Given the description of an element on the screen output the (x, y) to click on. 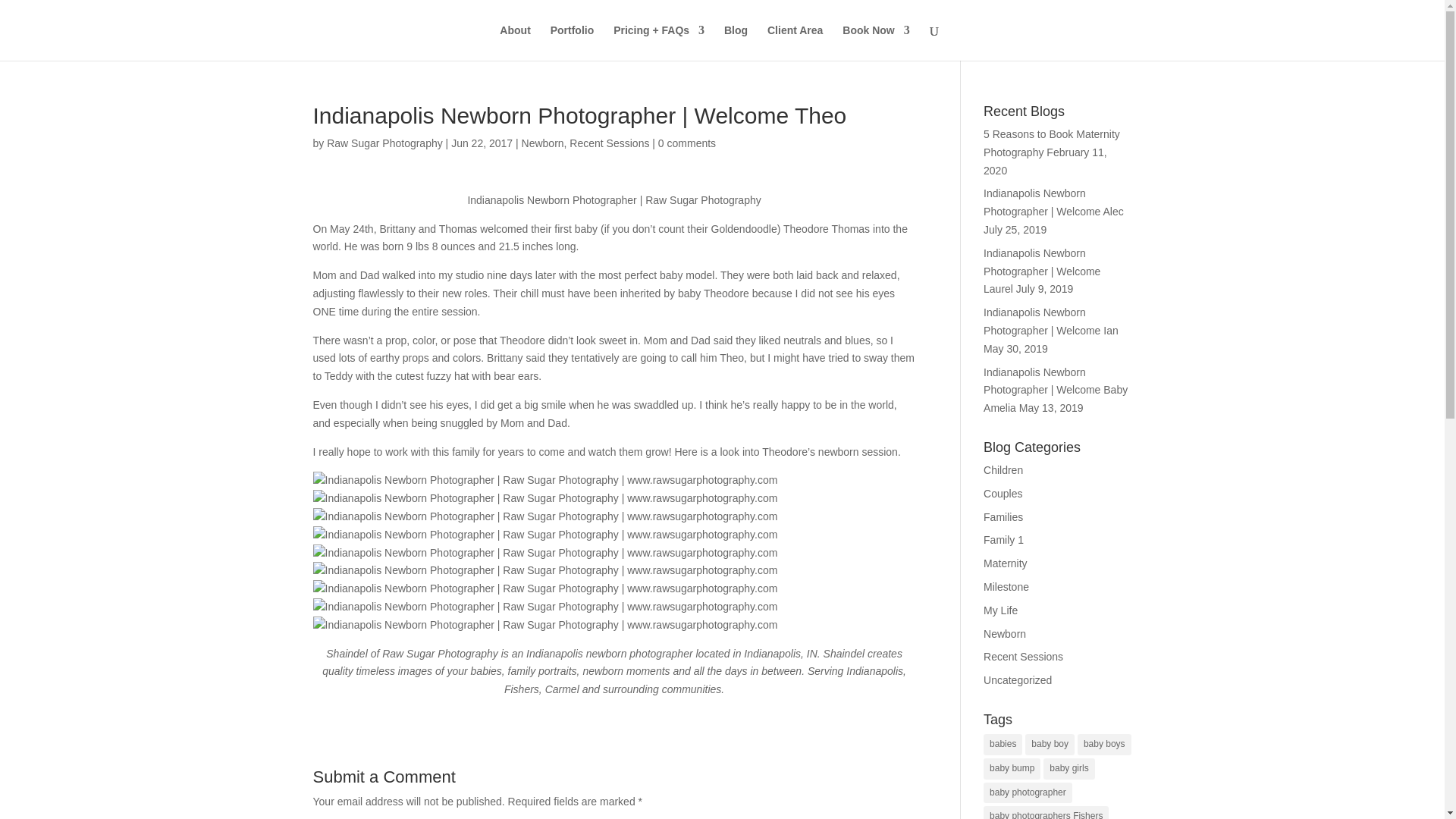
Maternity (1005, 563)
Posts by Raw Sugar Photography (384, 143)
Recent Sessions (1023, 656)
Blog (735, 42)
About (514, 42)
Newborn (542, 143)
Book Now (875, 42)
Client Area (794, 42)
Couples (1003, 493)
Raw Sugar Photography (384, 143)
My Life (1000, 610)
baby photographer (1027, 792)
Newborn (1005, 633)
Family 1 (1003, 539)
0 comments (687, 143)
